Given the description of an element on the screen output the (x, y) to click on. 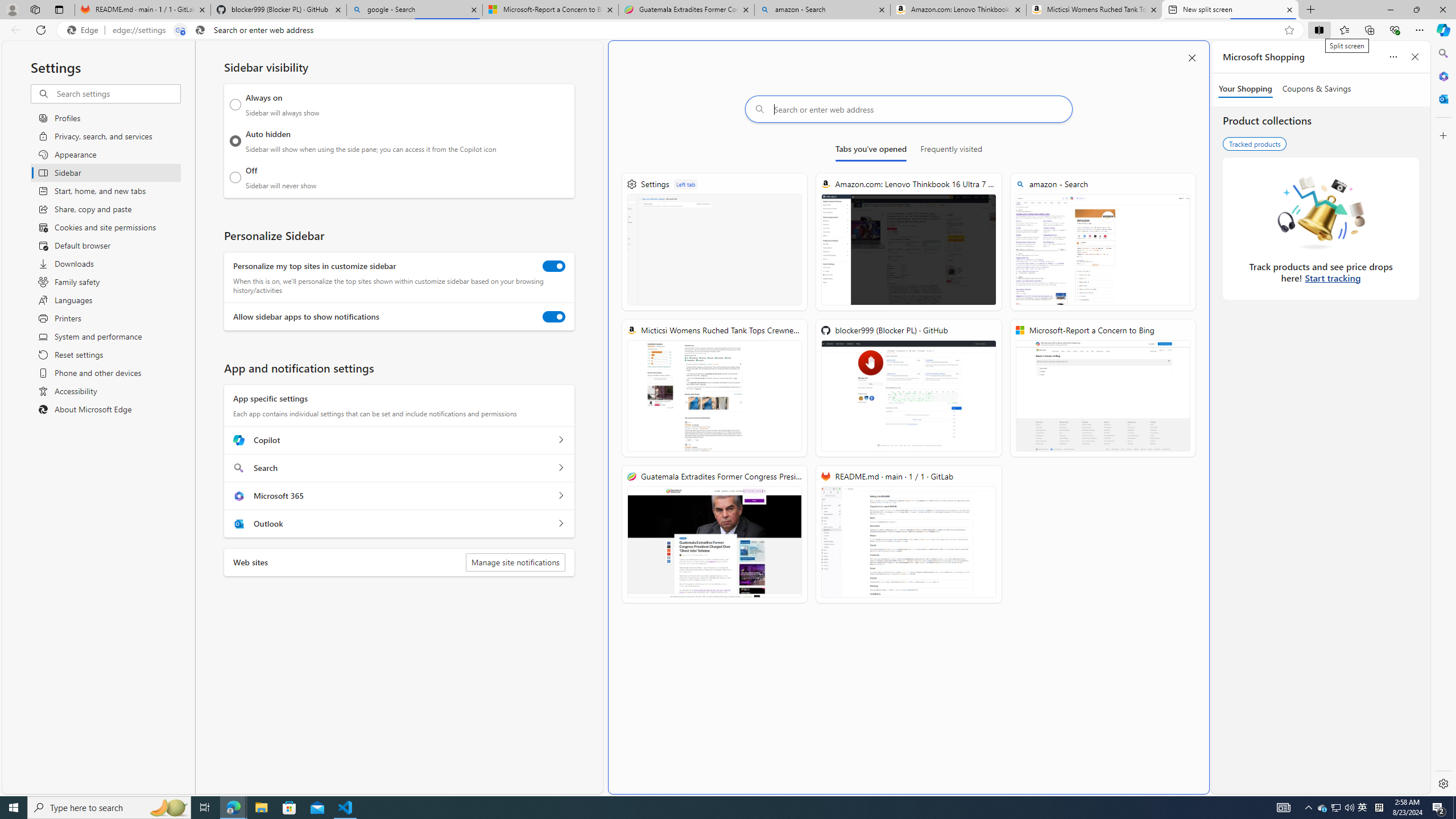
New split screen (1230, 9)
amazon - Search (1102, 242)
Split screen (1318, 29)
Microsoft 365 (1442, 76)
Always on Sidebar will always show (235, 104)
Outlook (1442, 98)
Tabs you've opened (870, 151)
Edge (84, 29)
Refresh (40, 29)
amazon - Search (822, 9)
Close tab (1289, 9)
Tabs in split screen (180, 29)
Microsoft-Report a Concern to Bing (1102, 388)
